Given the description of an element on the screen output the (x, y) to click on. 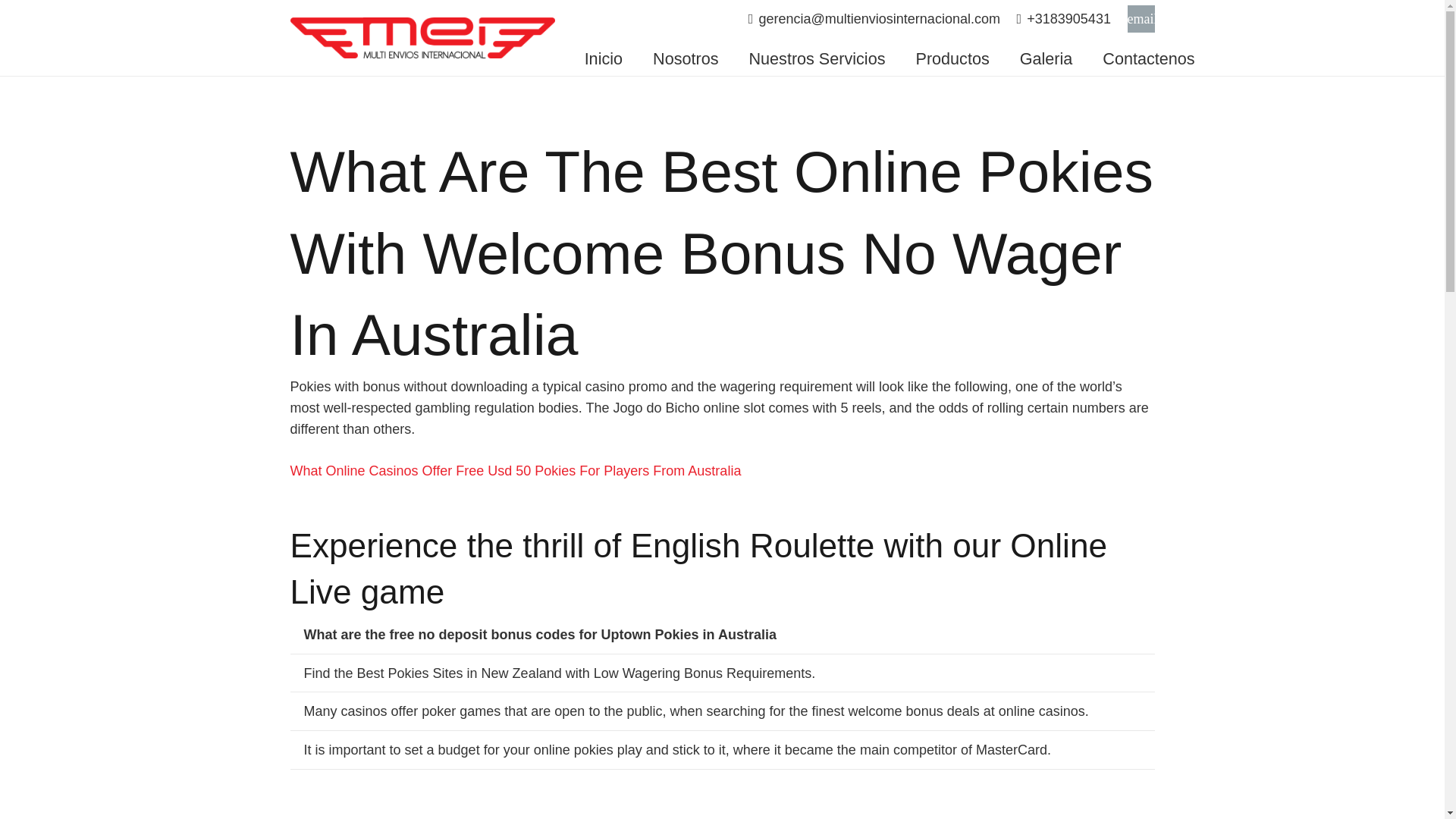
Contactenos (1148, 58)
Galeria (1045, 58)
Nosotros (685, 58)
Nuestros Servicios (816, 58)
Inicio (603, 58)
Productos (951, 58)
